Given the description of an element on the screen output the (x, y) to click on. 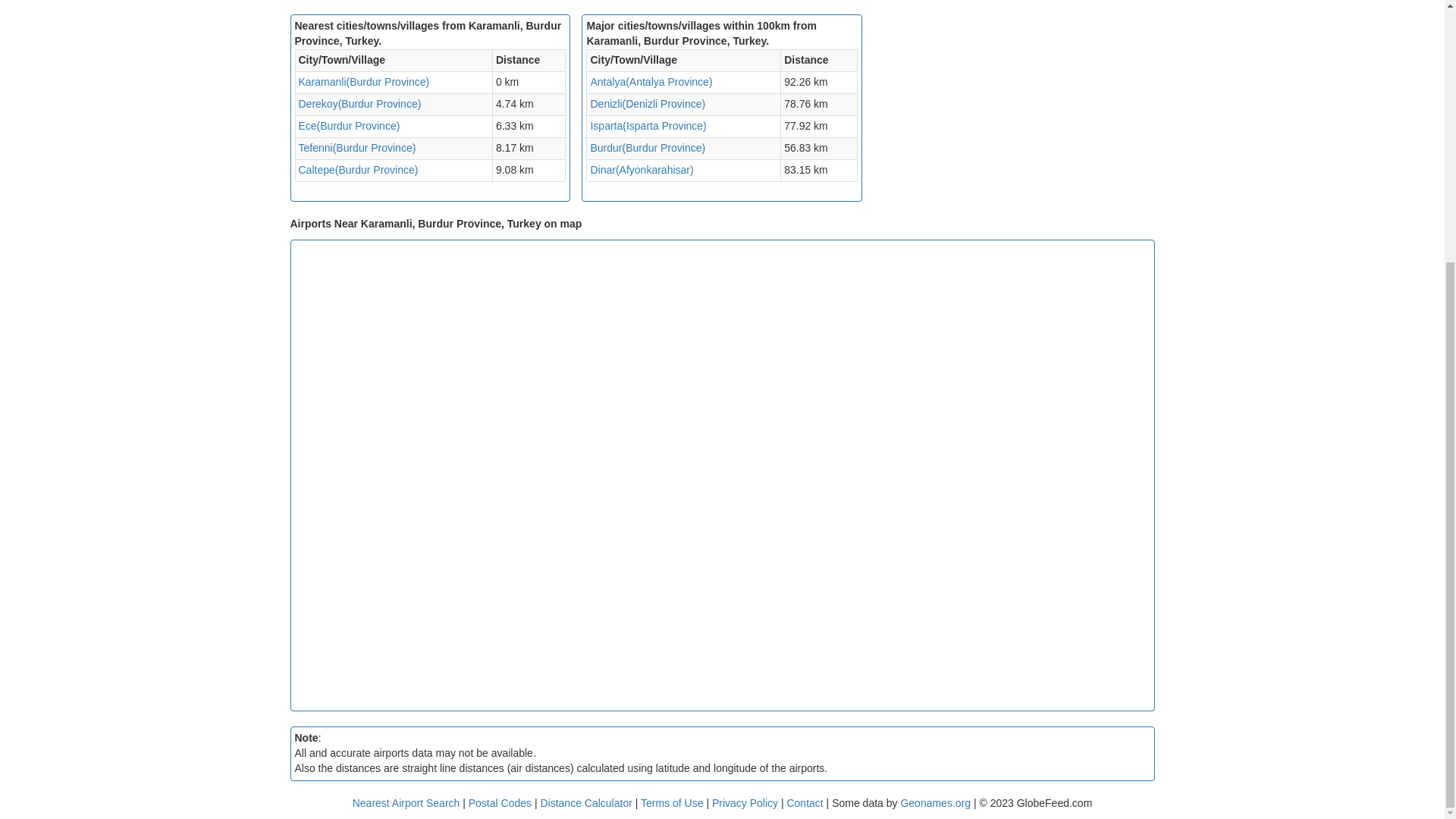
Airports near Isparta, Isparta Province, Turkey (647, 125)
Airports near Caltepe, Burdur Province, Turkey (358, 169)
Nearest Airport Search (406, 802)
Airports near Ece, Burdur Province, Turkey (349, 125)
Airports near Denizli, Denizli Province, Turkey (646, 103)
Airports near Tefenni, Burdur Province, Turkey (357, 147)
Airports near Derekoy, Burdur Province, Turkey (360, 103)
Terms of Use (673, 802)
Distance Calculator (585, 802)
Airports near Karamanli, Burdur Province, Turkey (363, 81)
Geonames.org (935, 802)
Contact (804, 802)
Airports near Burdur, Burdur Province, Turkey (646, 147)
Airports near Antalya, Antalya Province, Turkey (650, 81)
Privacy Policy (745, 802)
